Given the description of an element on the screen output the (x, y) to click on. 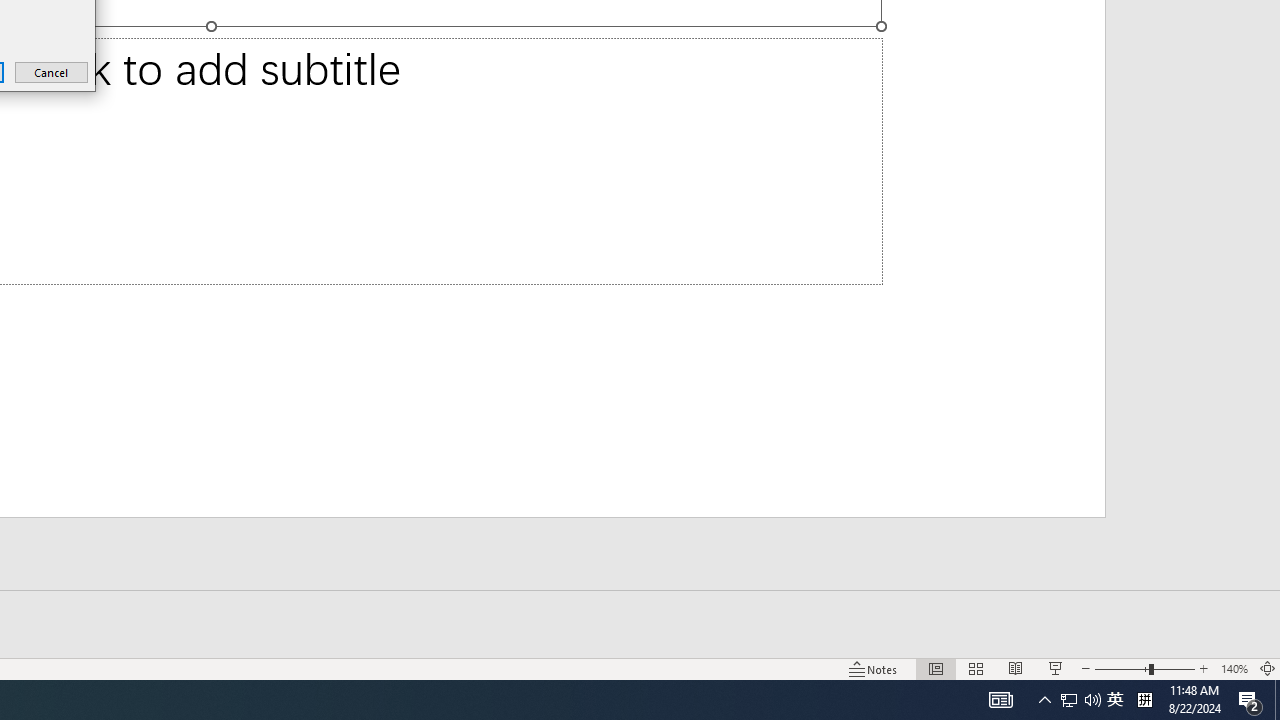
Cancel (51, 72)
Zoom 140% (1234, 668)
Action Center, 2 new notifications (1250, 699)
